Given the description of an element on the screen output the (x, y) to click on. 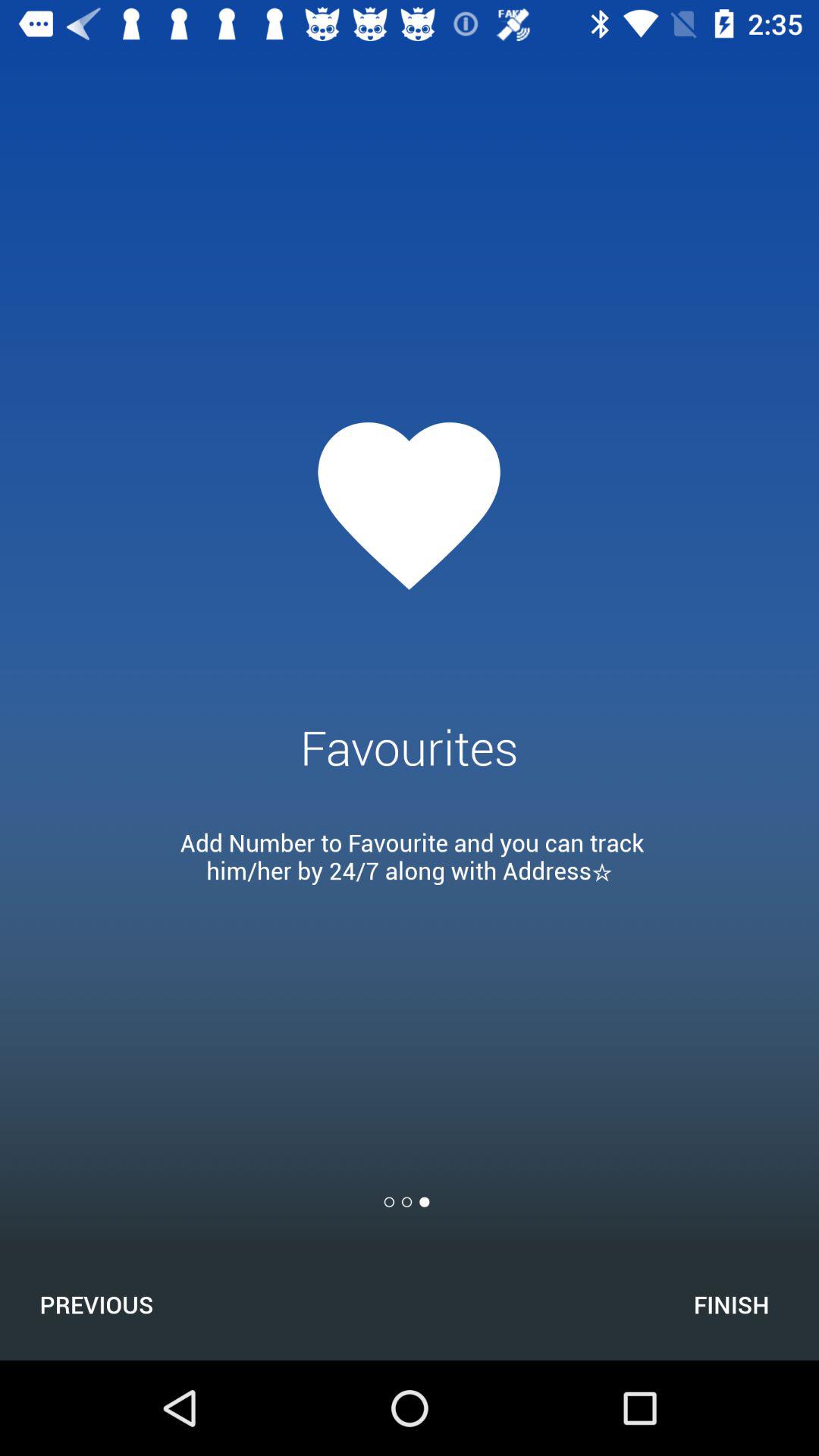
flip to finish item (731, 1304)
